Given the description of an element on the screen output the (x, y) to click on. 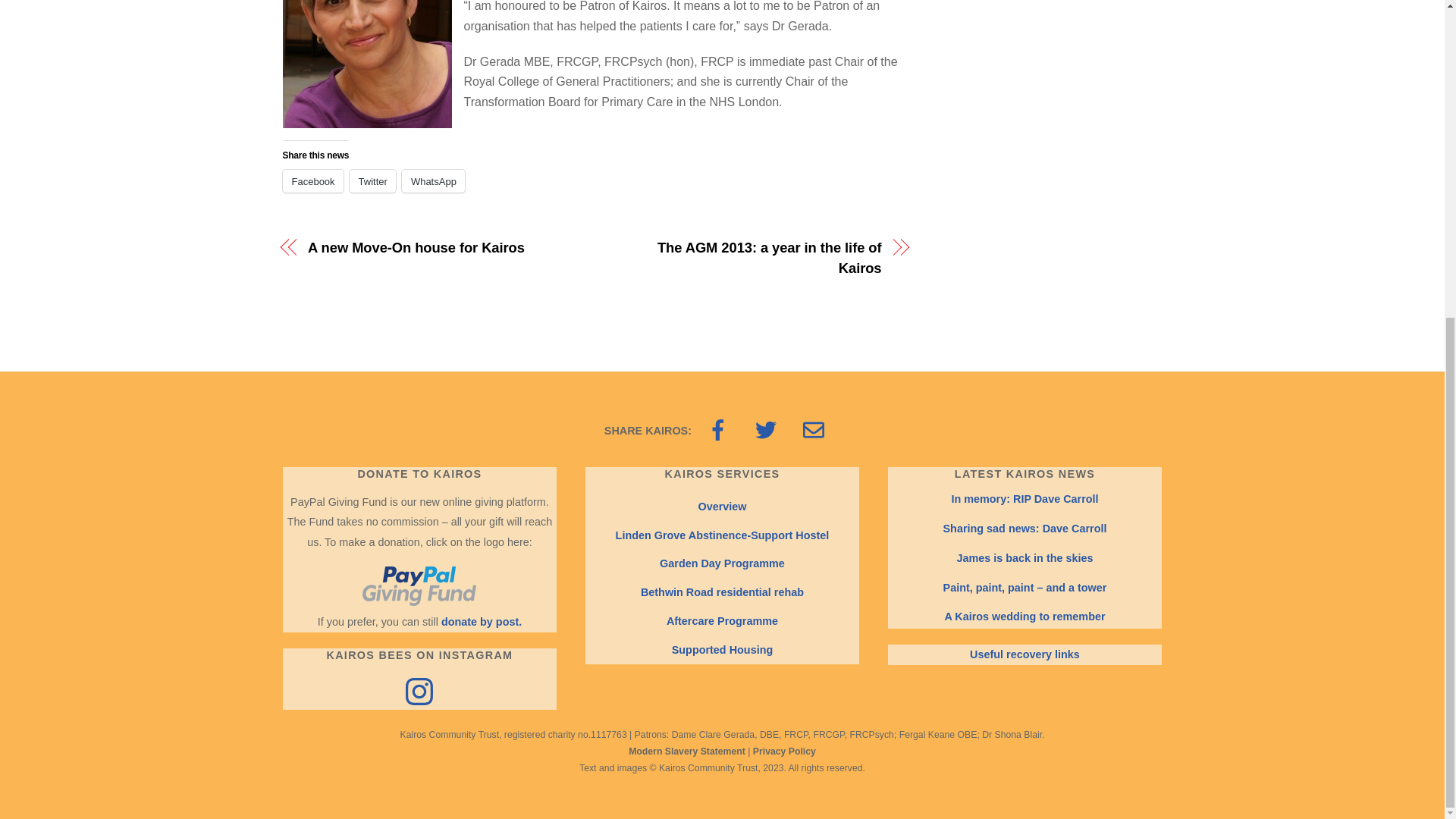
Instagram (419, 691)
Twitter (372, 180)
Overview (721, 506)
Facebook (312, 180)
The AGM 2013: a year in the life of Kairos (746, 258)
Click to share on Twitter (372, 180)
A new Move-On house for Kairos (441, 247)
WhatsApp (432, 180)
Garden Day Programme (721, 563)
Click to share on Facebook (312, 180)
